Given the description of an element on the screen output the (x, y) to click on. 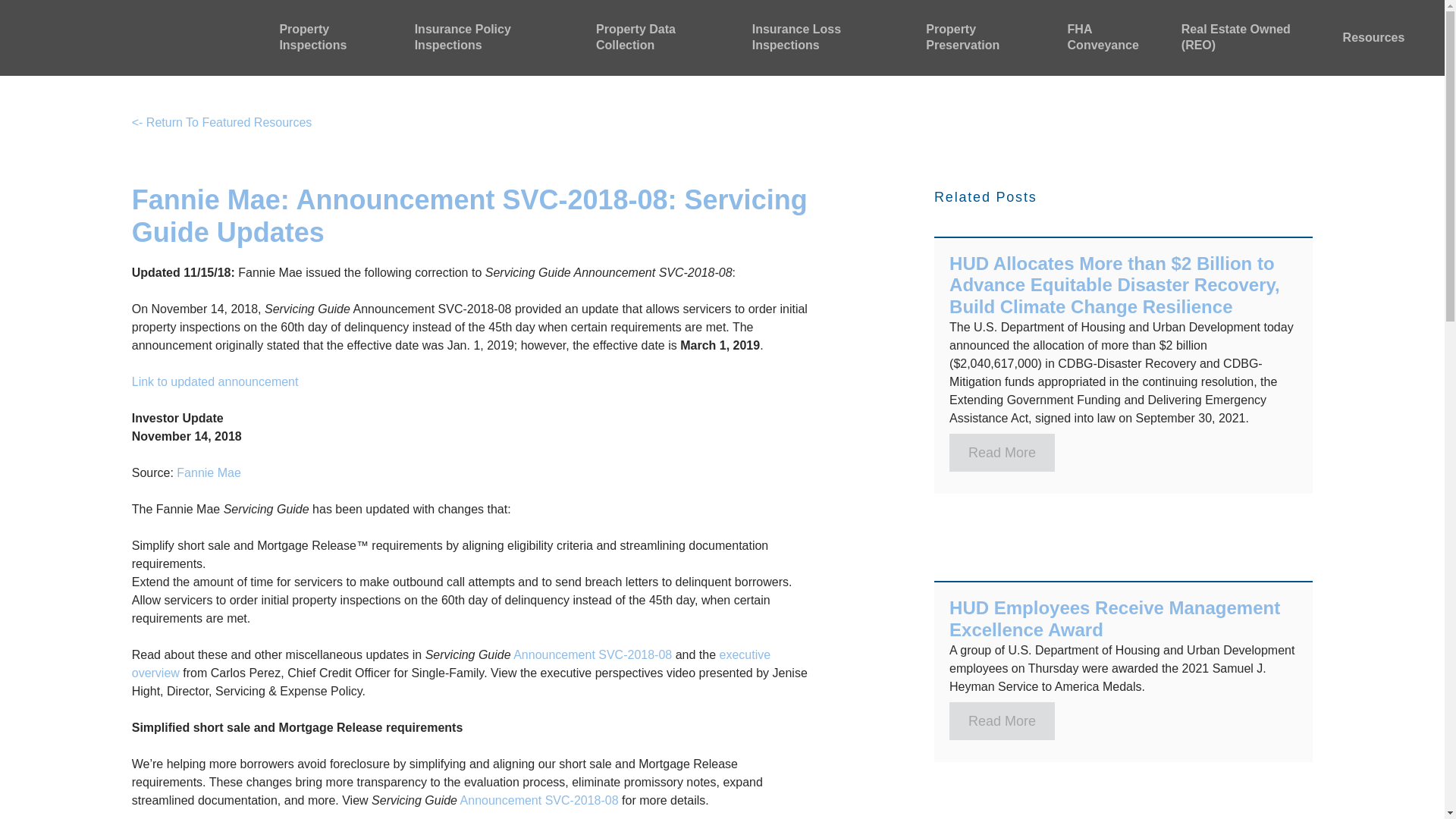
Announcement SVC-2018-08 (592, 654)
Property Inspections (338, 38)
Insurance Loss Inspections (831, 38)
Resources (1373, 38)
Read More (1001, 452)
Fannie Mae (208, 472)
Property Data Collection (666, 38)
FHA Conveyance (1116, 38)
Announcement SVC-2018-08 (539, 799)
Read More (1001, 720)
